Given the description of an element on the screen output the (x, y) to click on. 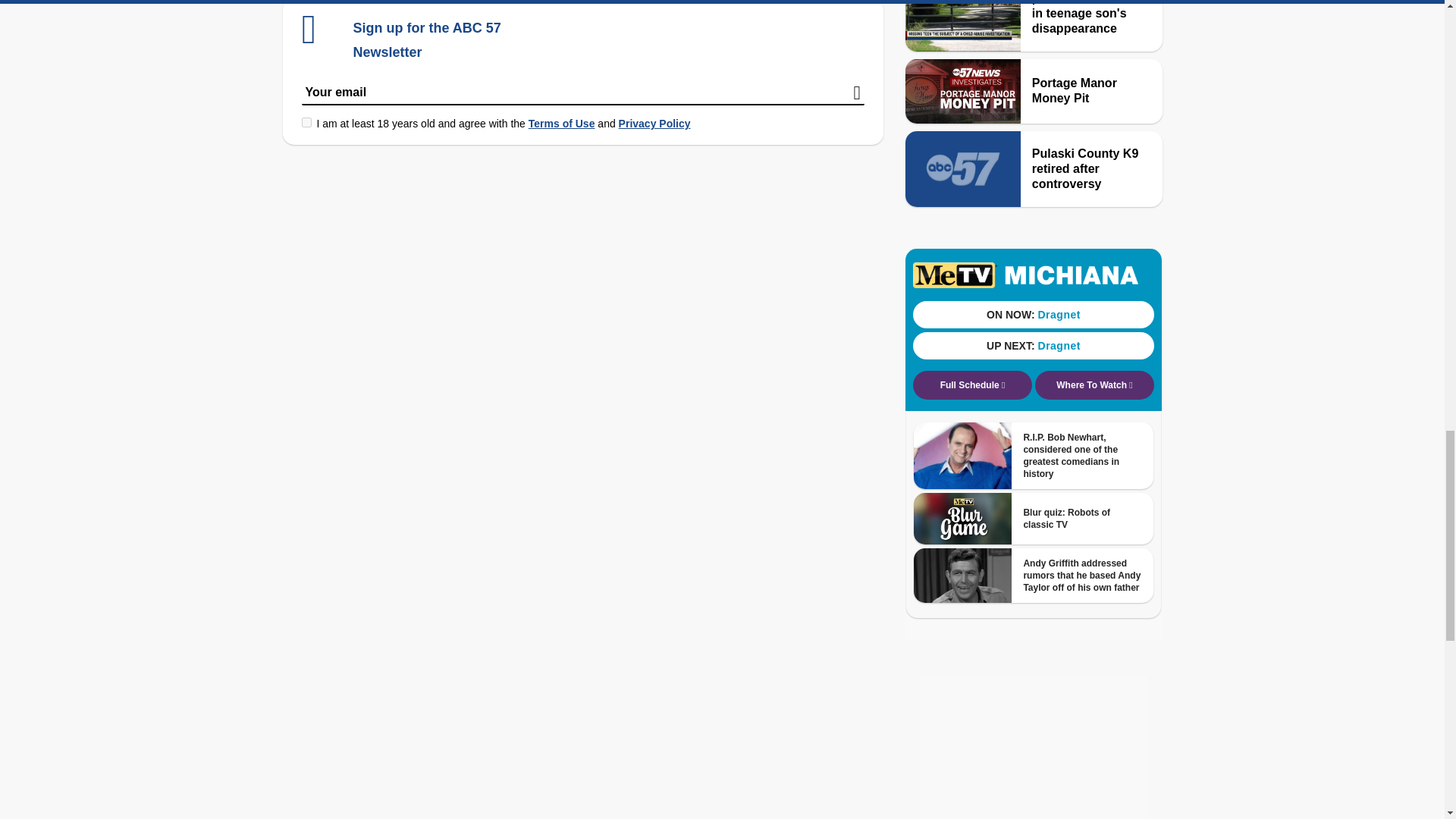
on (306, 122)
